Given the description of an element on the screen output the (x, y) to click on. 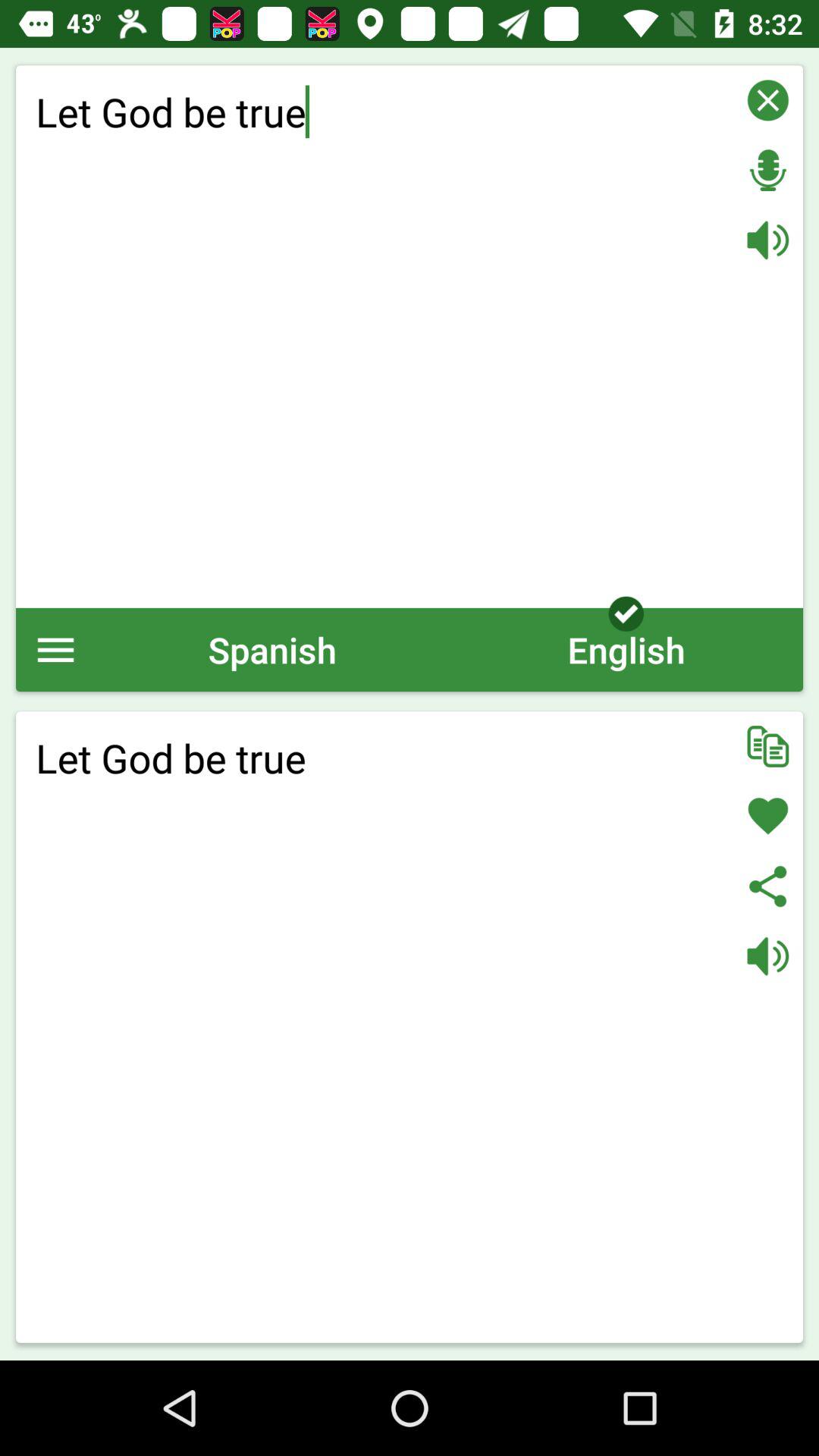
close out of text box (768, 100)
